Given the description of an element on the screen output the (x, y) to click on. 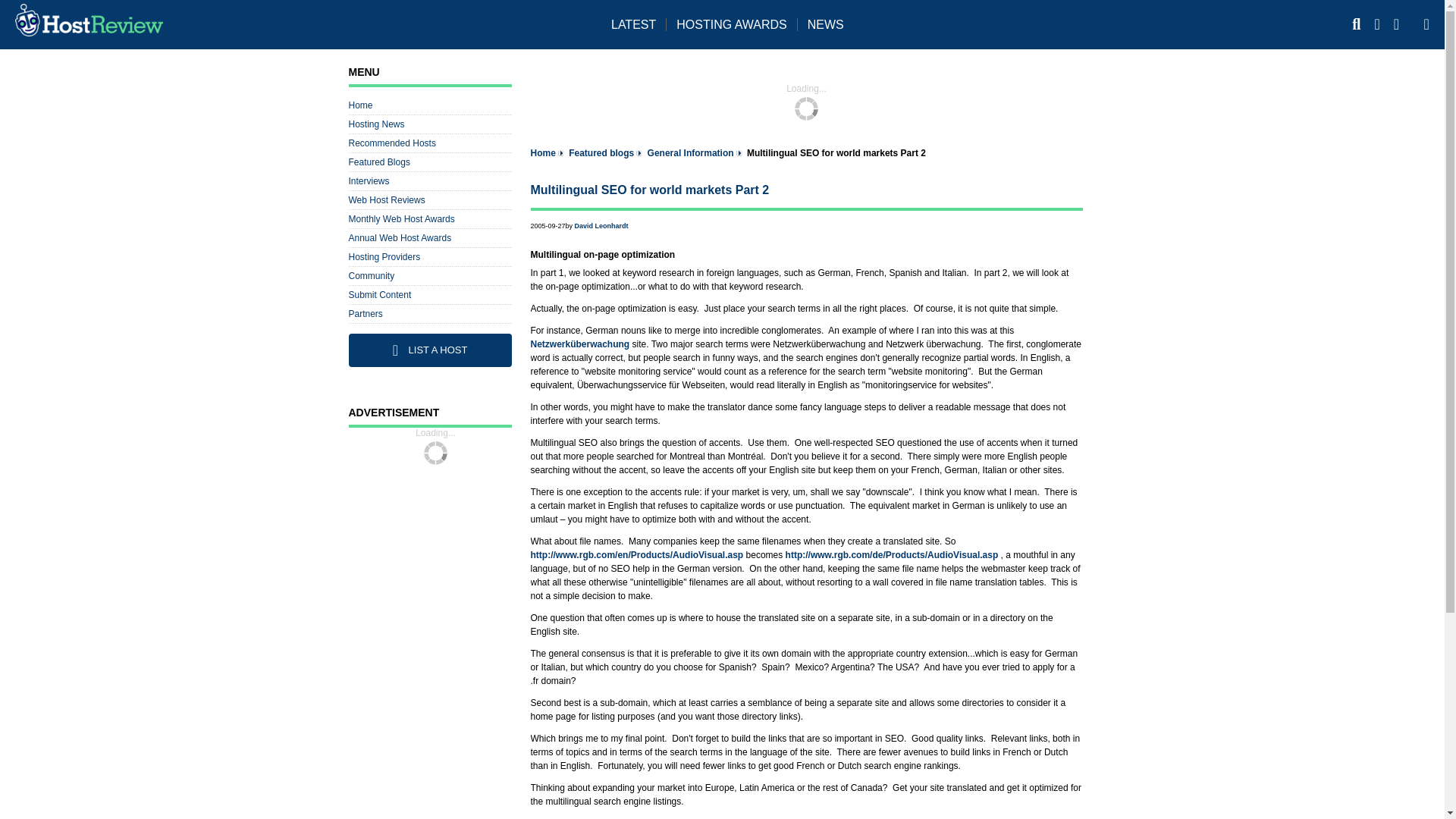
Partners (365, 313)
Submit Content (380, 294)
Interviews (369, 181)
Community (371, 276)
Interviews (369, 181)
General Information (690, 153)
Hosting News (376, 123)
Home (360, 104)
NEWS (835, 24)
Hosting News (376, 123)
